Given the description of an element on the screen output the (x, y) to click on. 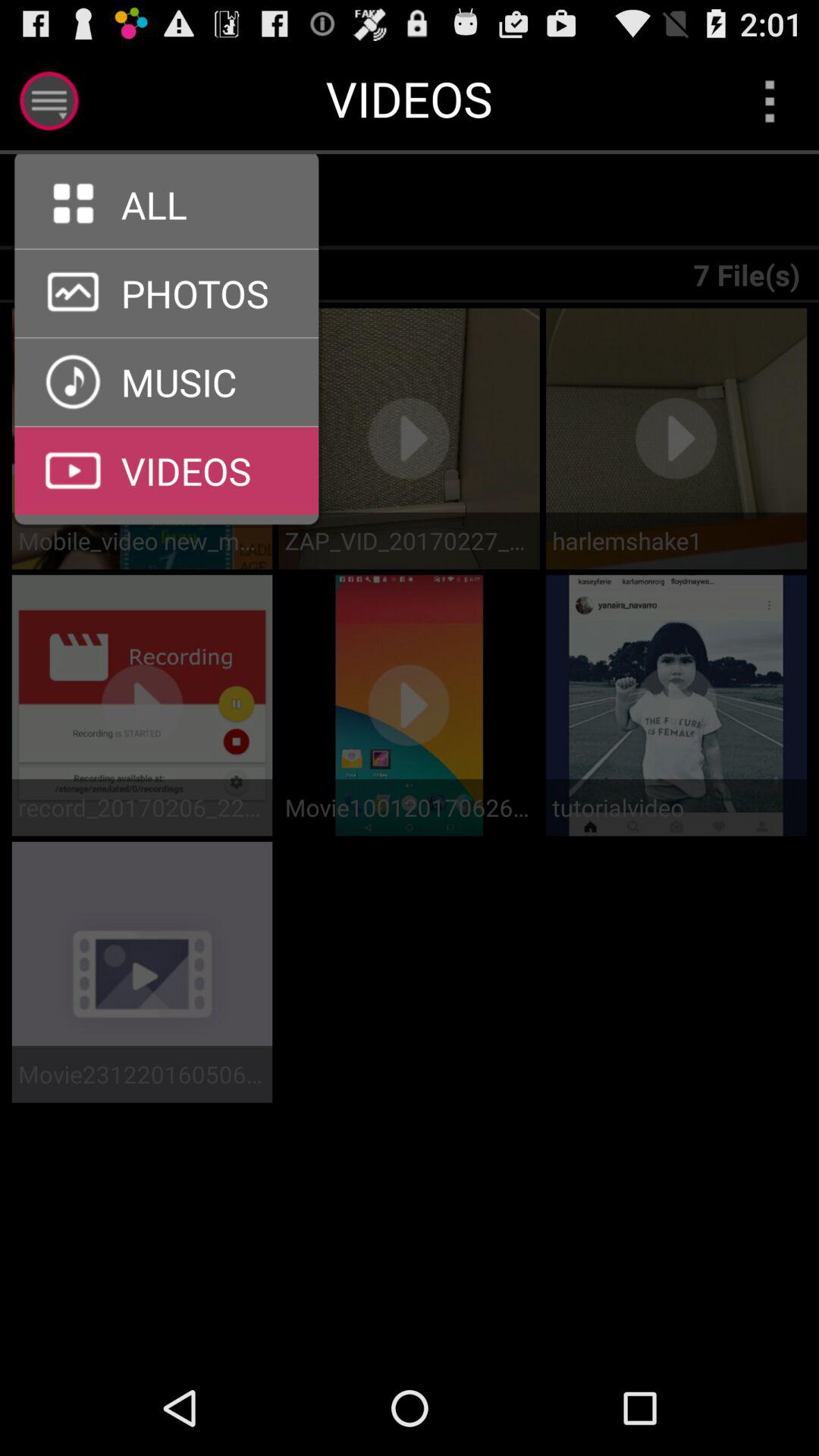
select videos (166, 426)
